Given the description of an element on the screen output the (x, y) to click on. 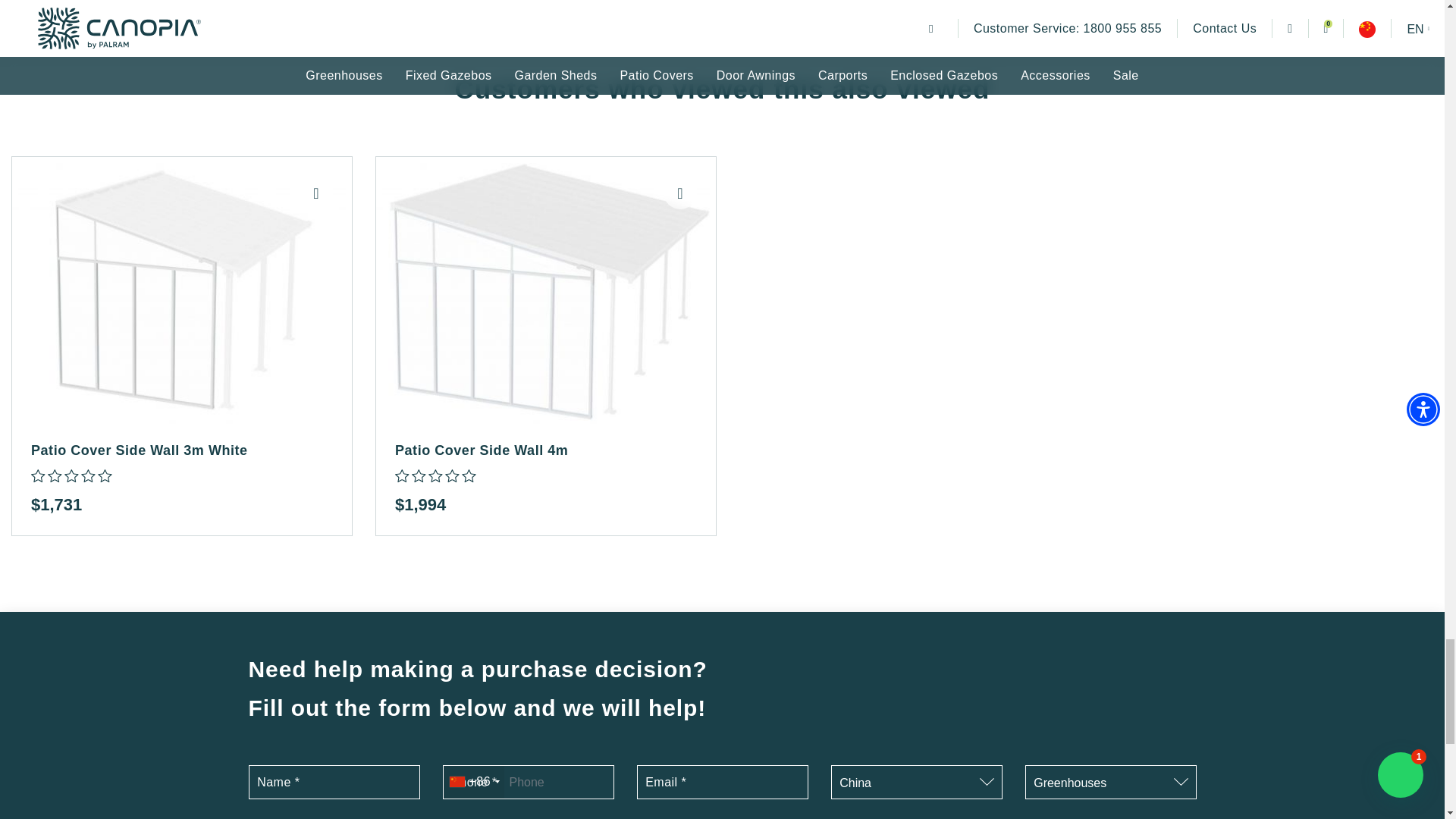
Greenhouses (1110, 782)
China (916, 782)
